Given the description of an element on the screen output the (x, y) to click on. 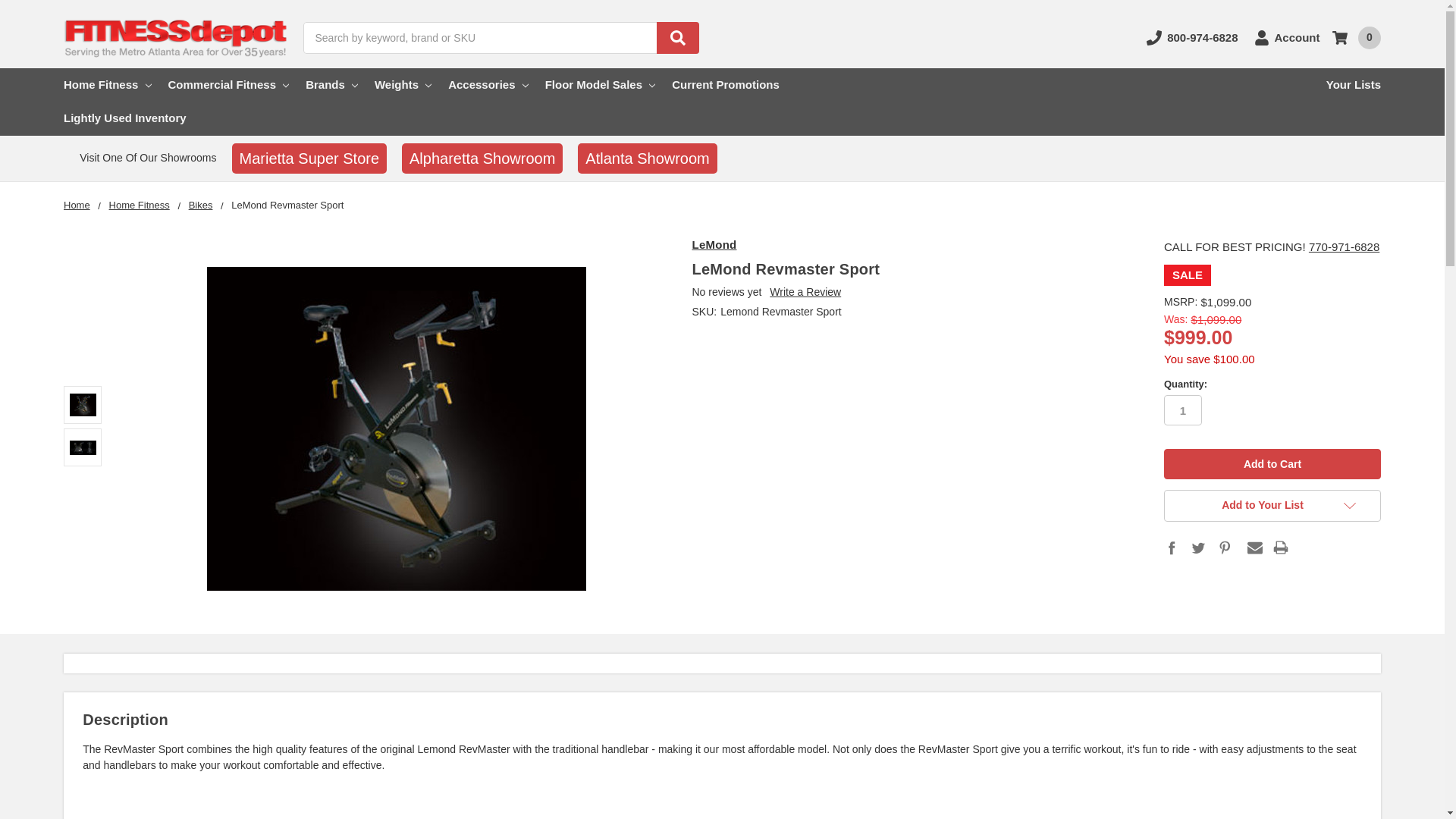
Search (677, 38)
LeMond  Revmaster Sport (82, 447)
Add to Cart (1271, 463)
LeMond  Revmaster Sport (396, 428)
Fitness Depot (177, 37)
1 (1182, 409)
Home Fitness (106, 84)
0 (1356, 37)
Account (1286, 37)
800-974-6828 (1192, 37)
